Given the description of an element on the screen output the (x, y) to click on. 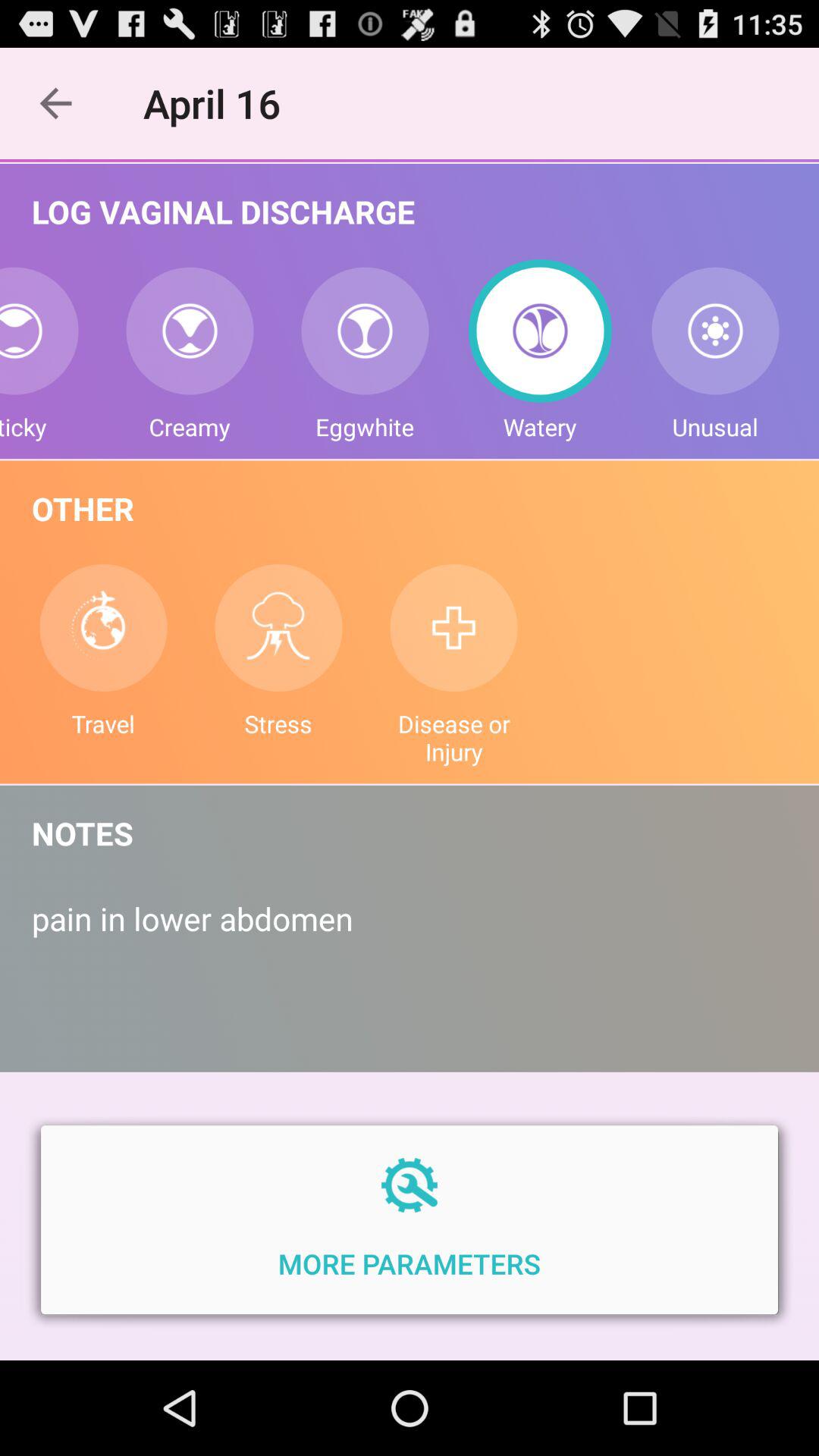
launch the item to the left of april 16 icon (55, 103)
